Given the description of an element on the screen output the (x, y) to click on. 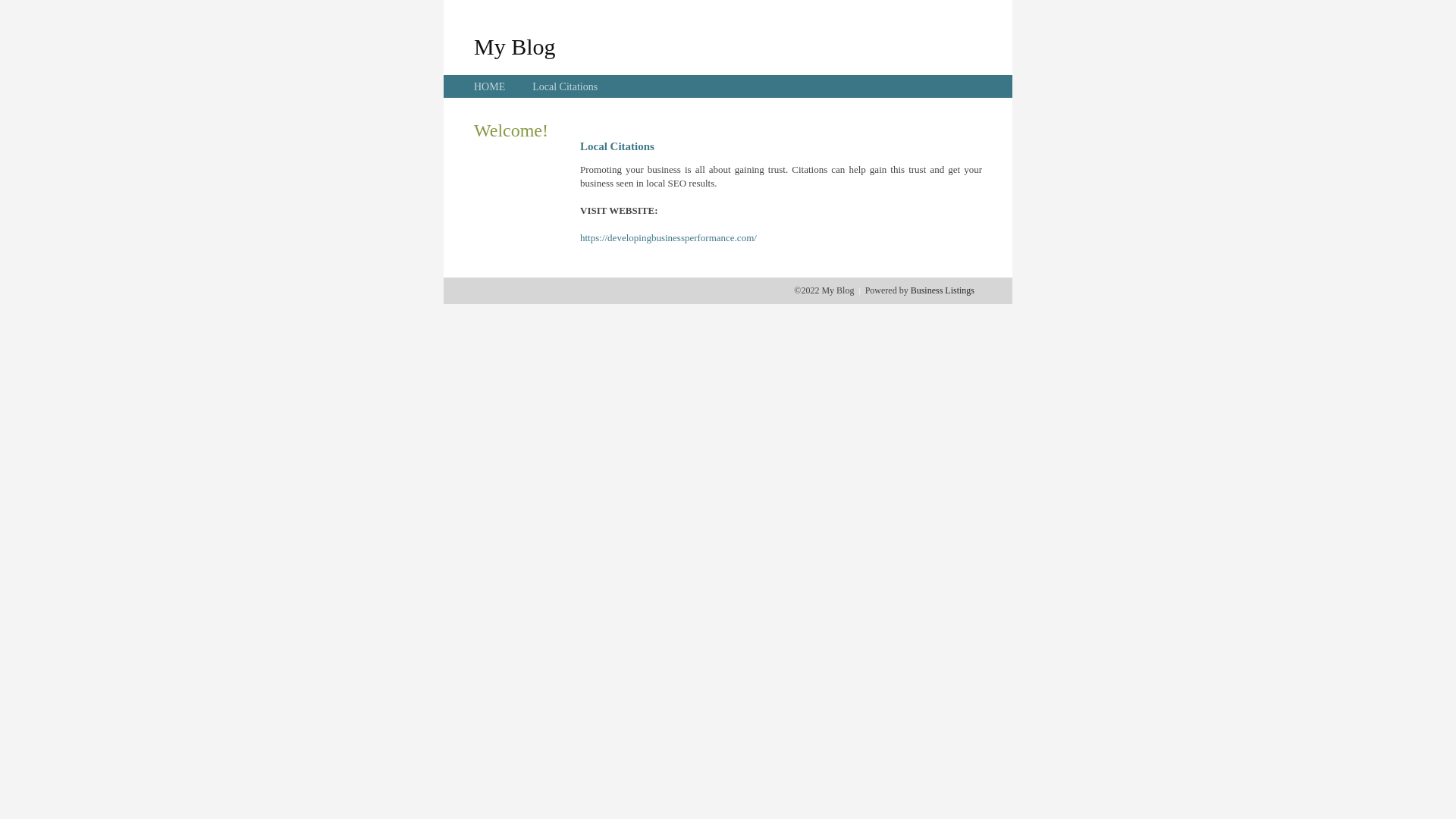
HOME Element type: text (489, 86)
Business Listings Element type: text (942, 290)
https://developingbusinessperformance.com/ Element type: text (668, 237)
My Blog Element type: text (514, 46)
Local Citations Element type: text (564, 86)
